Given the description of an element on the screen output the (x, y) to click on. 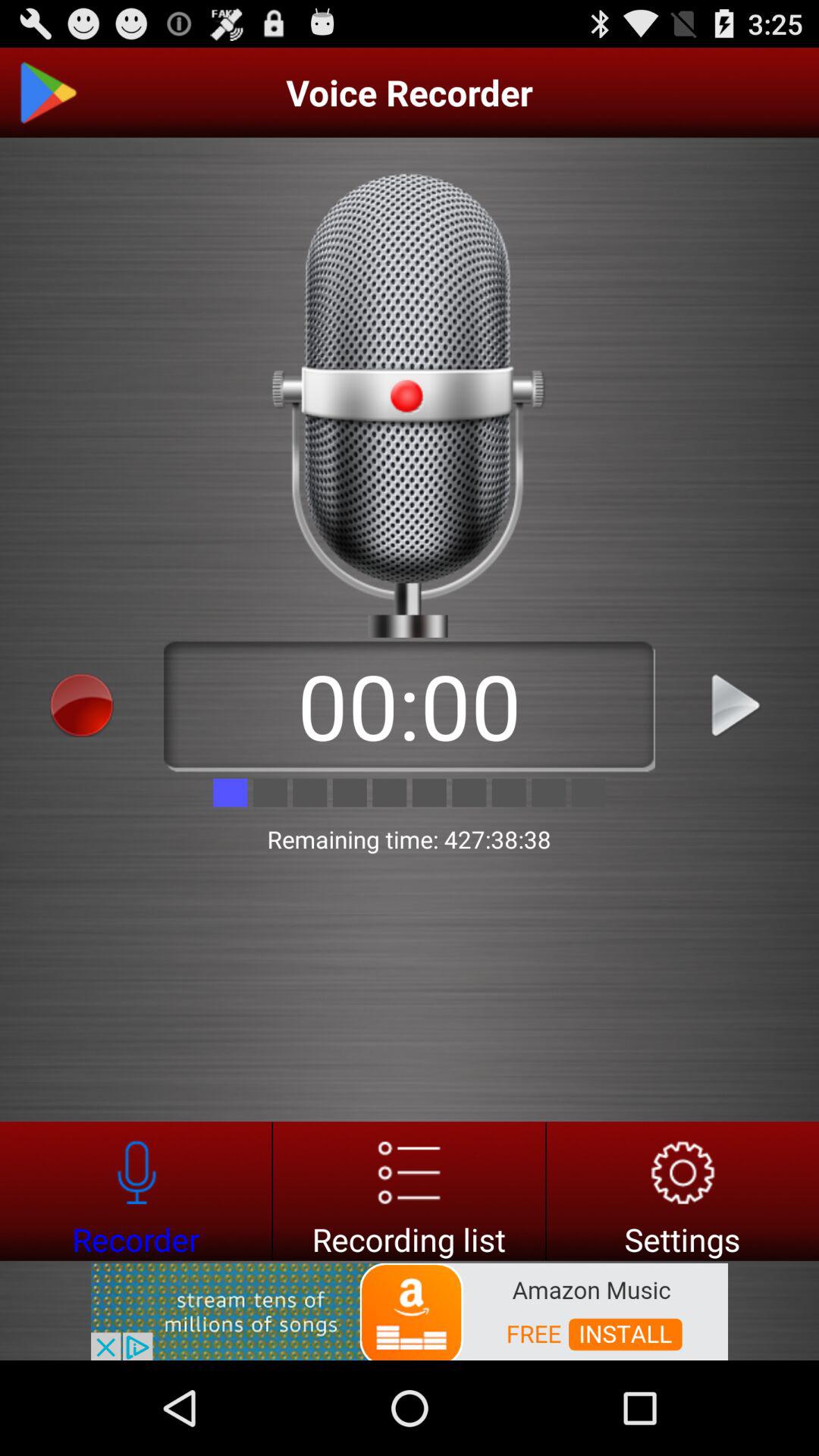
advertisement (409, 1310)
